Given the description of an element on the screen output the (x, y) to click on. 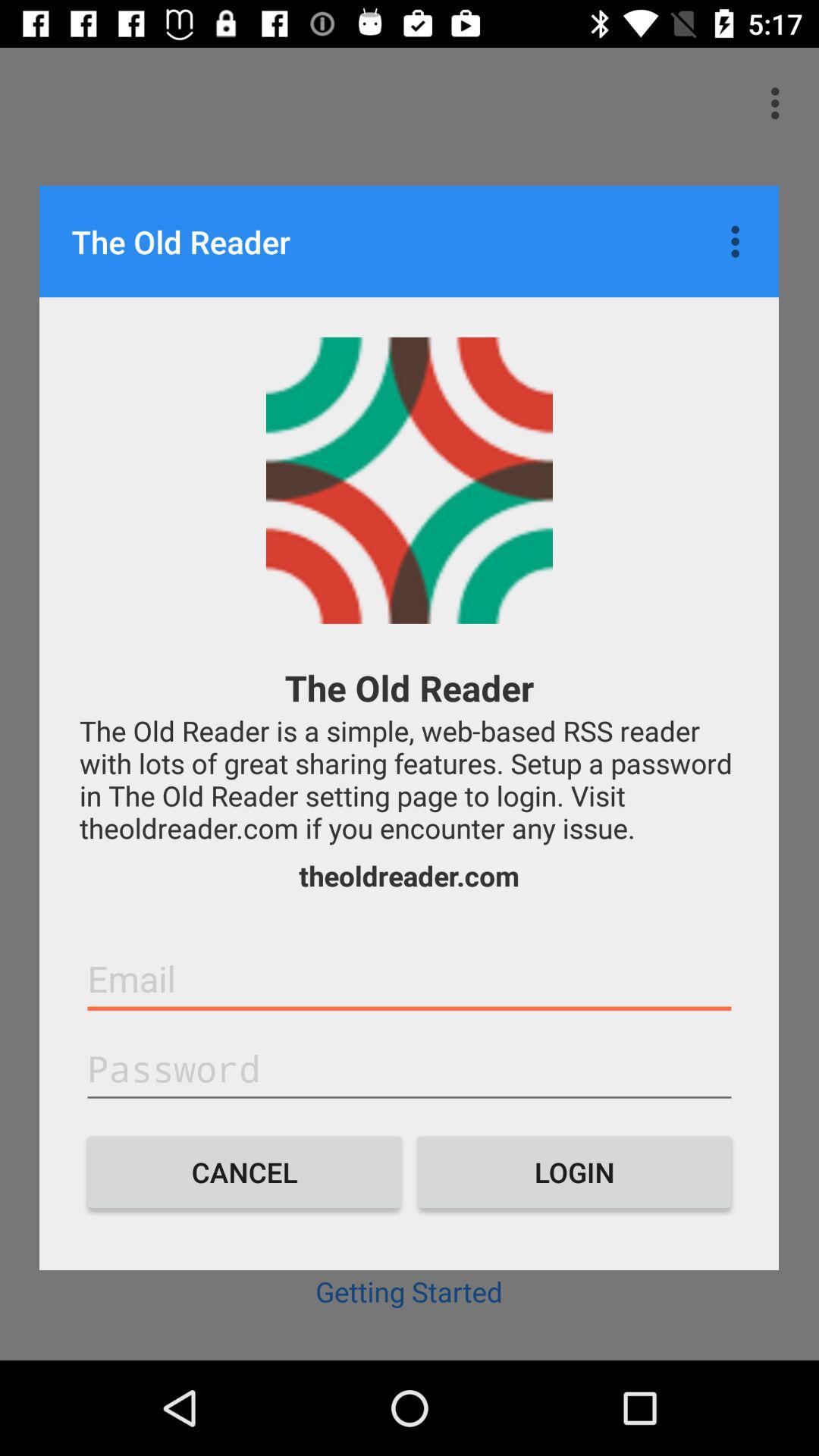
textbox (409, 1069)
